Given the description of an element on the screen output the (x, y) to click on. 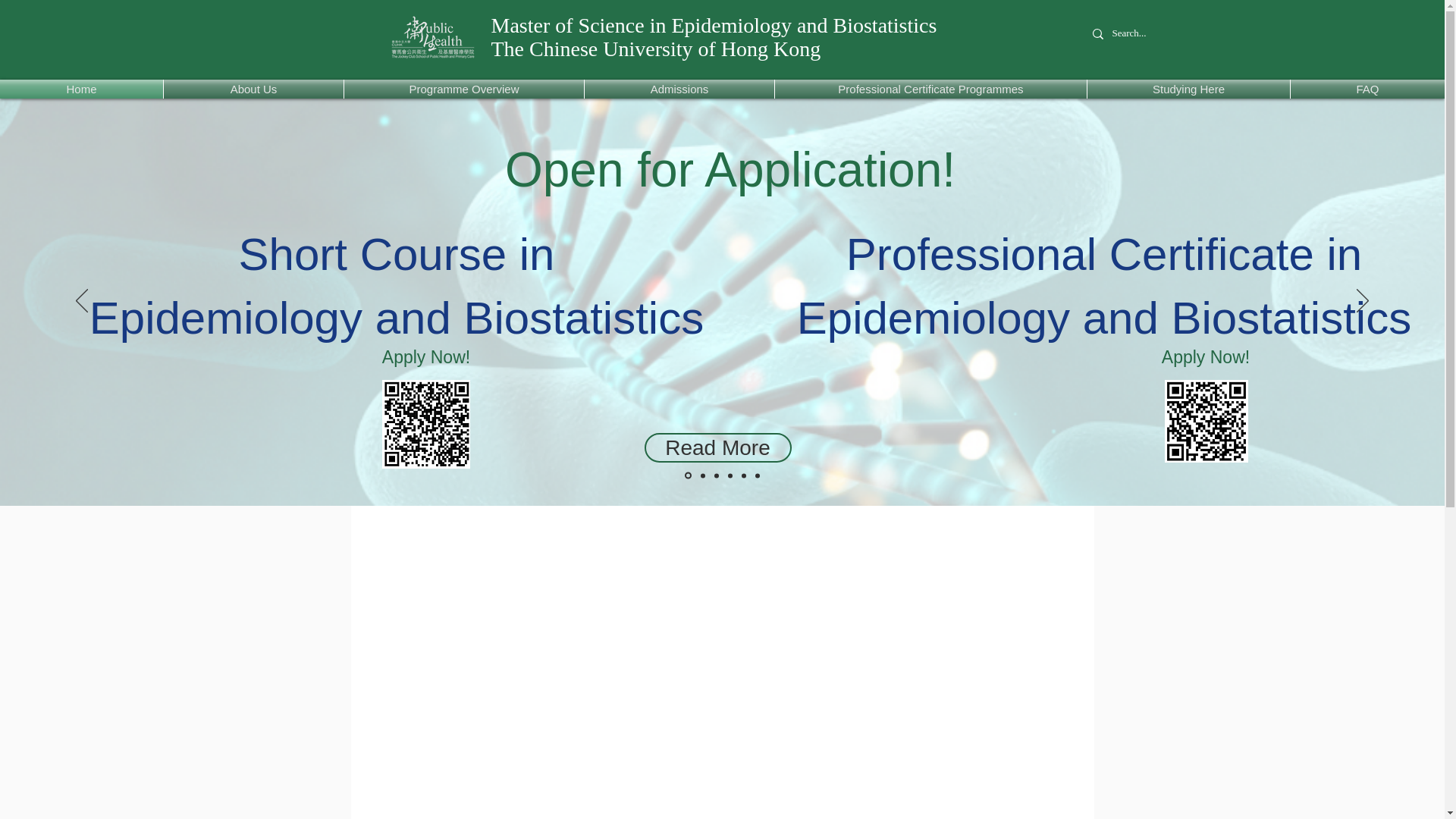
Programme Overview (463, 88)
he Chinese University of Hong Kong  (665, 48)
About Us (253, 88)
Studying Here (1188, 88)
Read More (718, 447)
Master of Science in Epidemiology and Biostatistics  (717, 24)
Professional Certificate Programmes (930, 88)
Admissions (679, 88)
Home (81, 88)
